Given the description of an element on the screen output the (x, y) to click on. 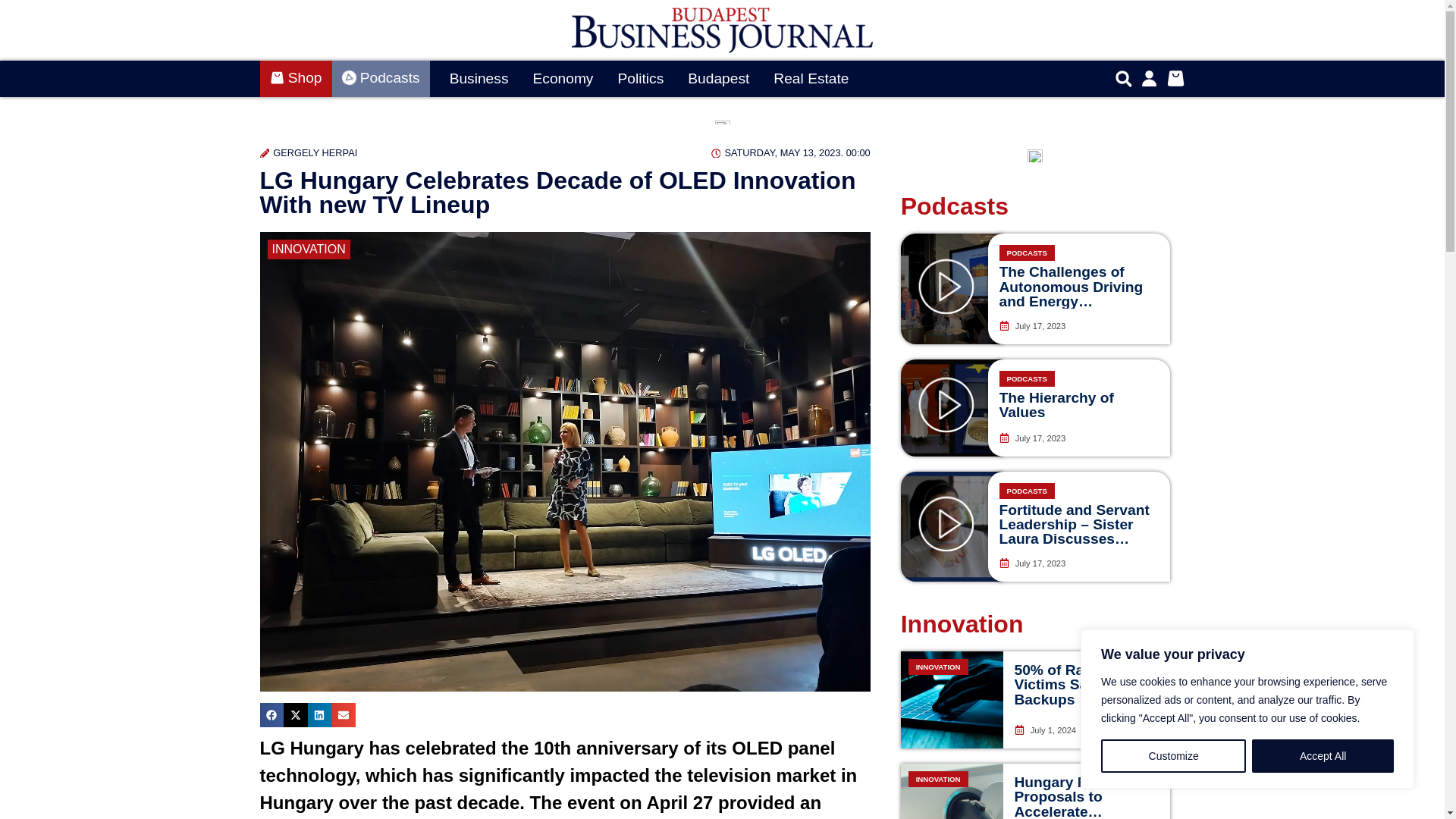
Business (478, 78)
Accept All (1322, 756)
SATURDAY, MAY 13, 2023. 00:00 (790, 152)
Real Estate (810, 78)
Podcasts (380, 78)
INNOVATION (307, 249)
Economy (562, 78)
Shop (295, 78)
GERGELY HERPAI (307, 152)
Customize (1173, 756)
Politics (640, 78)
Budapest (718, 78)
